Given the description of an element on the screen output the (x, y) to click on. 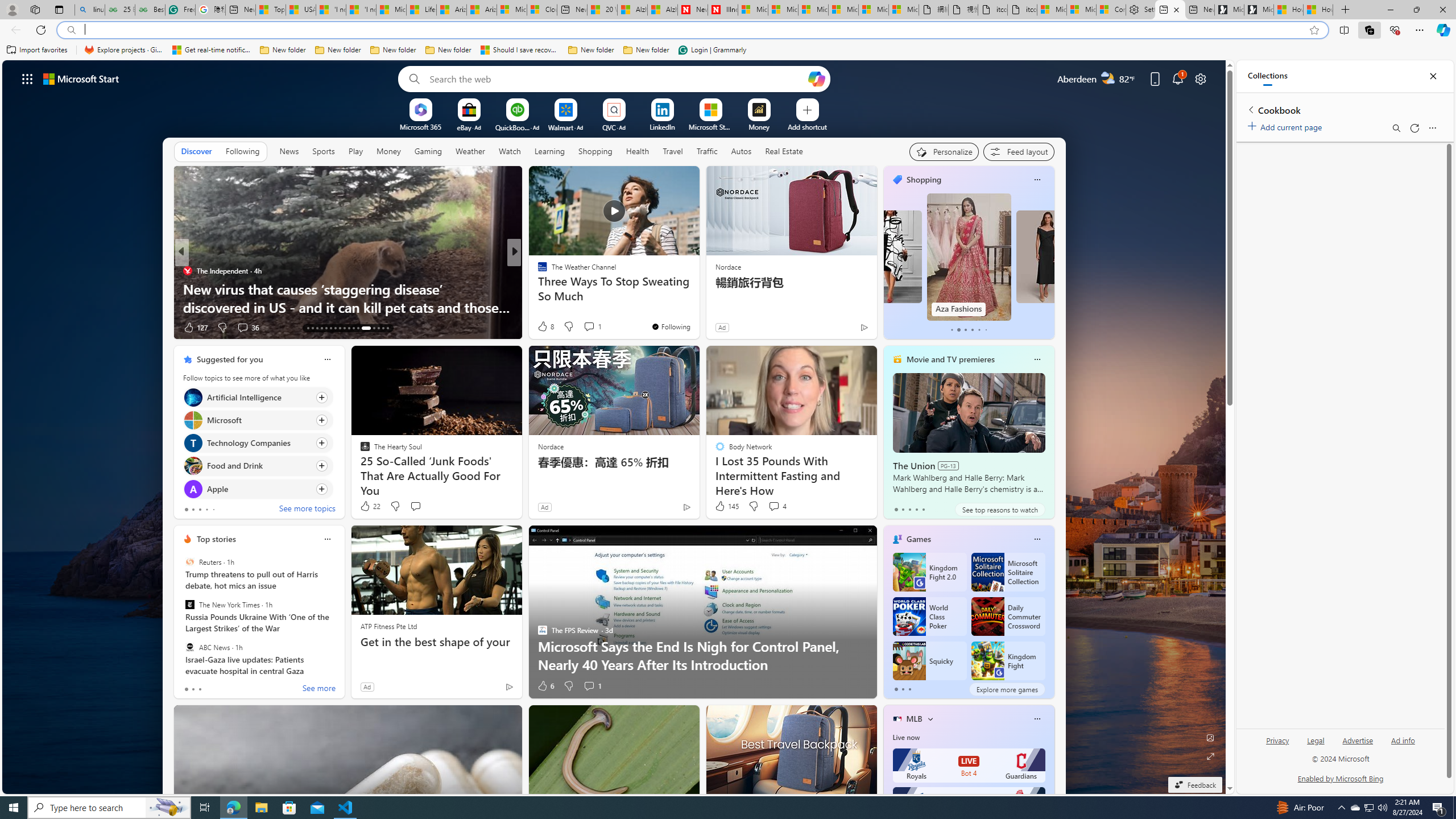
Top stories (215, 538)
20 Ways to Boost Your Protein Intake at Every Meal (601, 9)
Get in the best shape of your (435, 641)
6 Like (545, 685)
AutomationID: tab-28 (382, 328)
Import favorites (36, 49)
AutomationID: tab-13 (307, 328)
Newsweek - News, Analysis, Politics, Business, Technology (691, 9)
I Lost 100 Pounds by Eating the Meal I Love (697, 307)
MLB (914, 718)
Cheapism (537, 288)
